Given the description of an element on the screen output the (x, y) to click on. 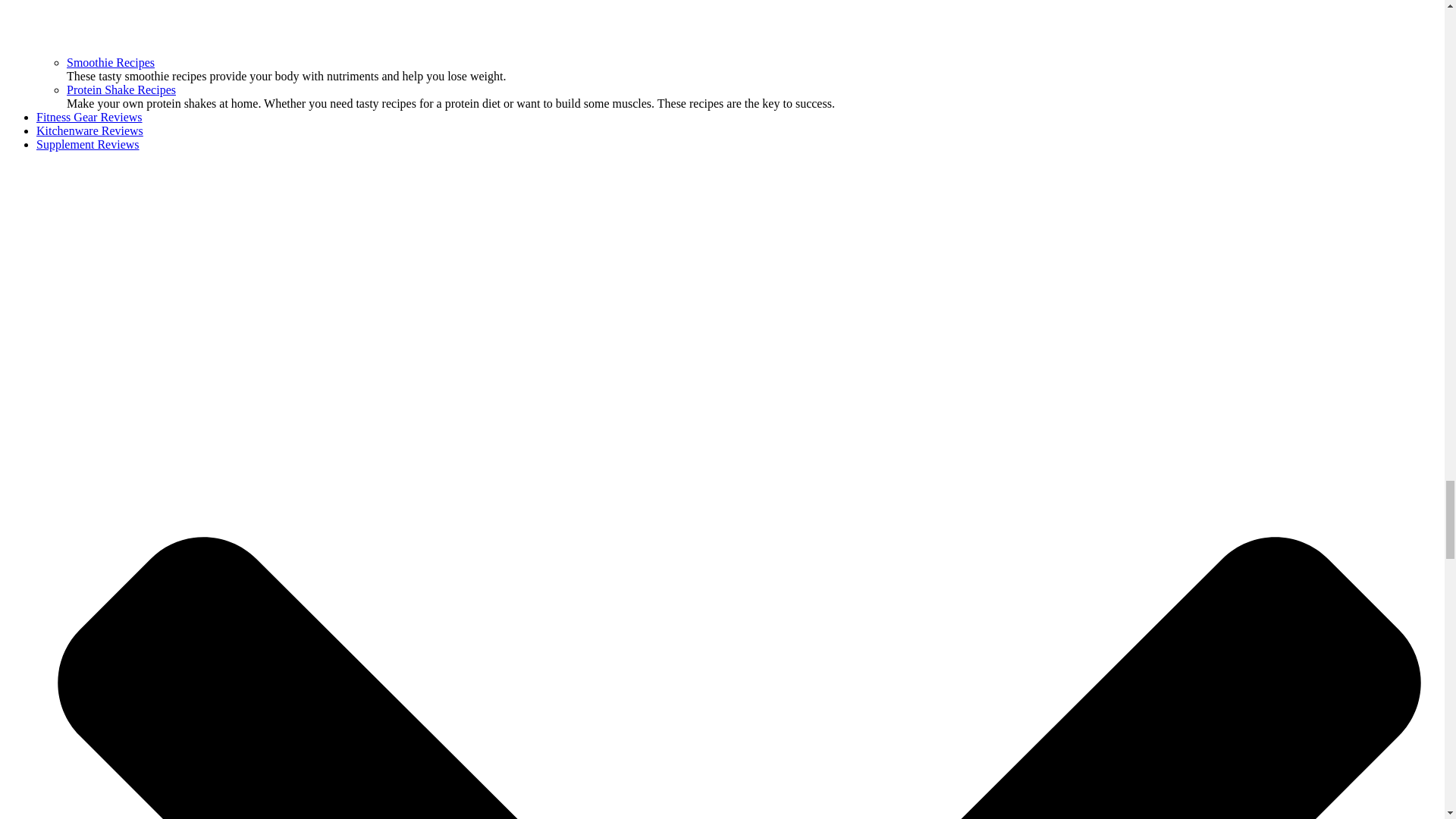
Smoothie Recipes (110, 62)
Supplement Reviews (87, 144)
Kitchenware Reviews (89, 130)
Fitness Gear Reviews (89, 116)
Protein Shake Recipes (121, 89)
